Given the description of an element on the screen output the (x, y) to click on. 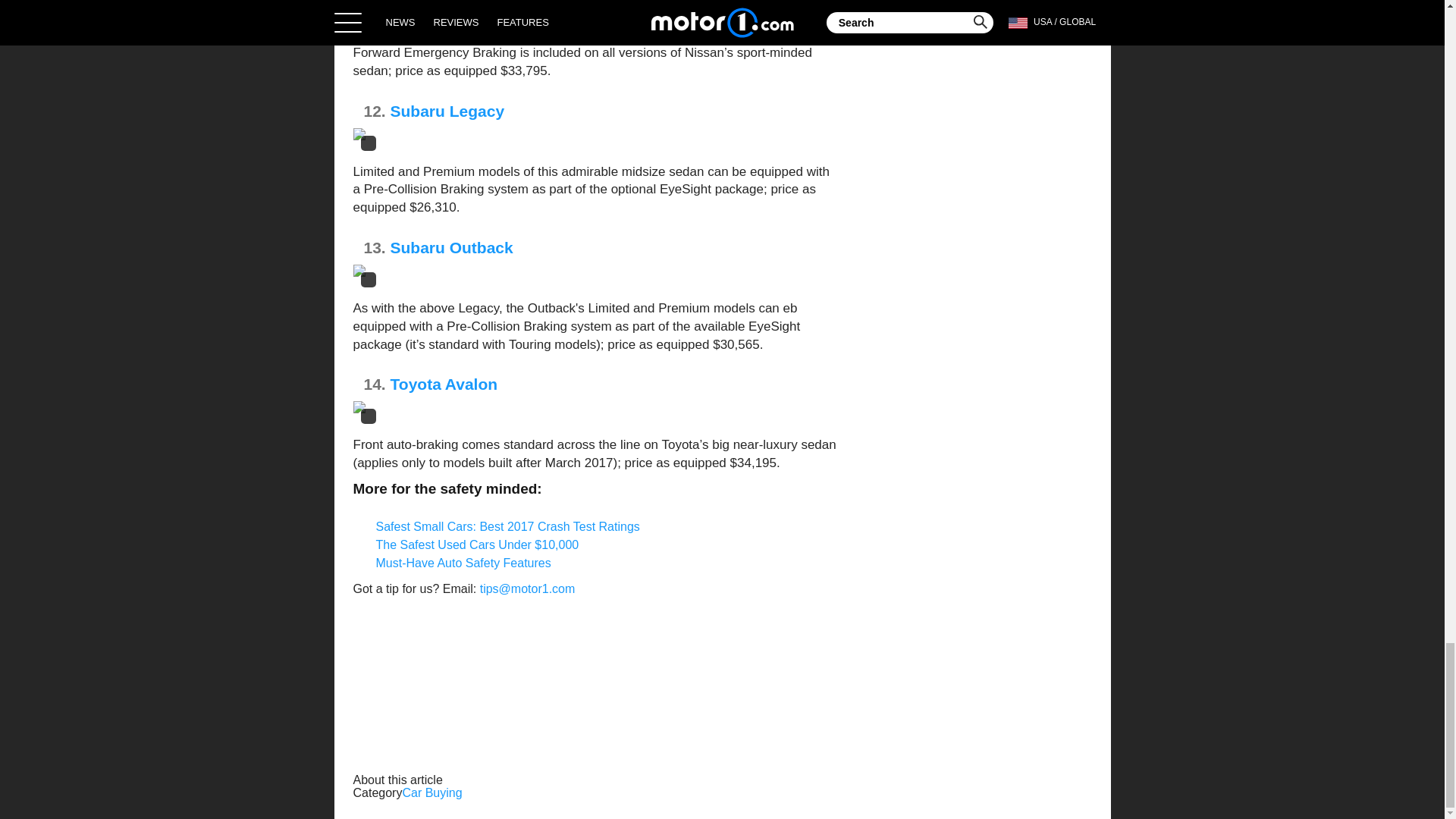
Subaru Outback (451, 247)
Subaru Legacy (447, 110)
Safest Small Cars: Best 2017 Crash Test Ratings (507, 526)
Toyota Avalon (443, 384)
